Given the description of an element on the screen output the (x, y) to click on. 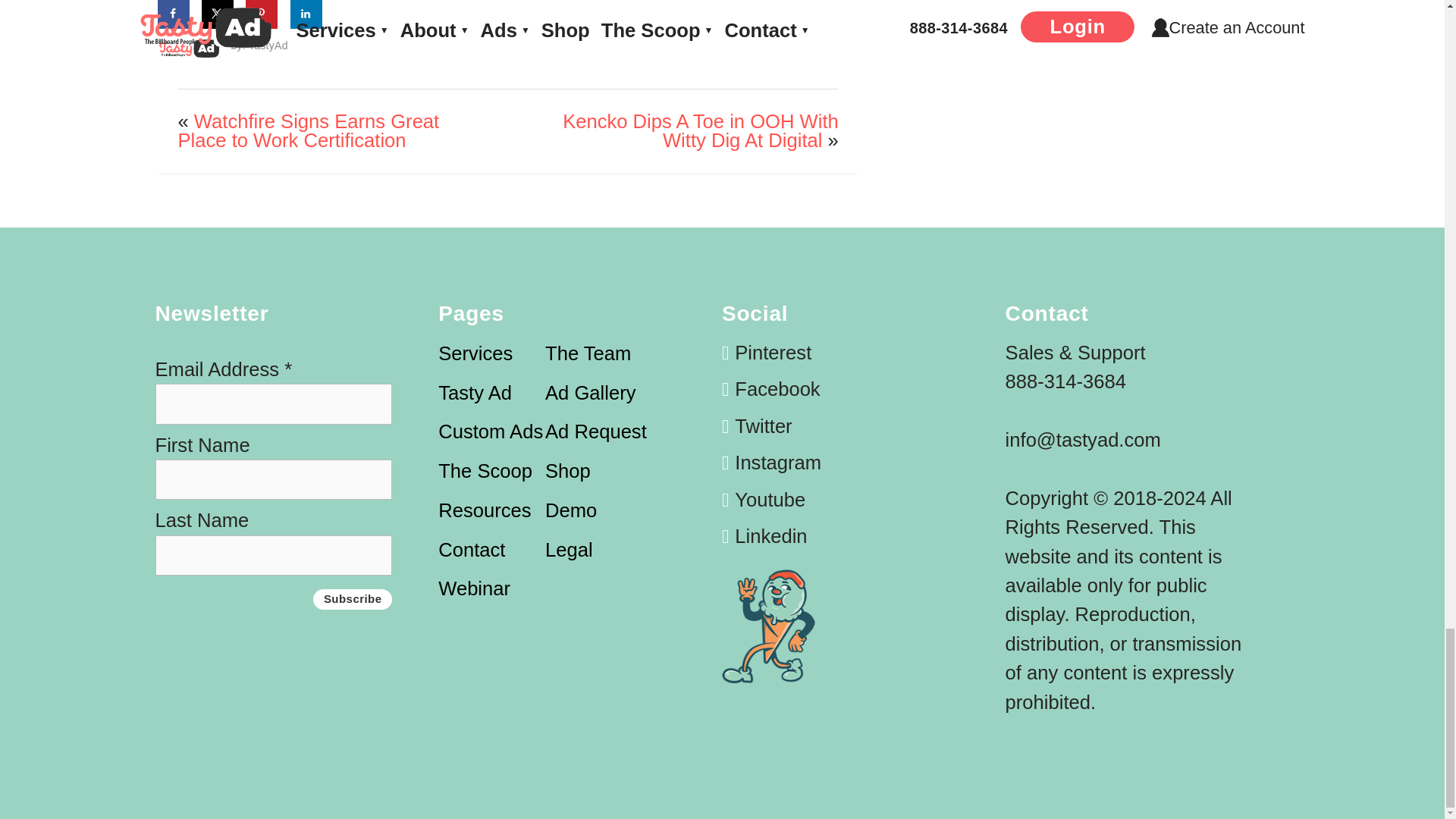
Share on LinkedIn (306, 14)
Share on Facebook (173, 14)
Share on X (217, 14)
Subscribe (353, 598)
Save to Pinterest (262, 14)
